Given the description of an element on the screen output the (x, y) to click on. 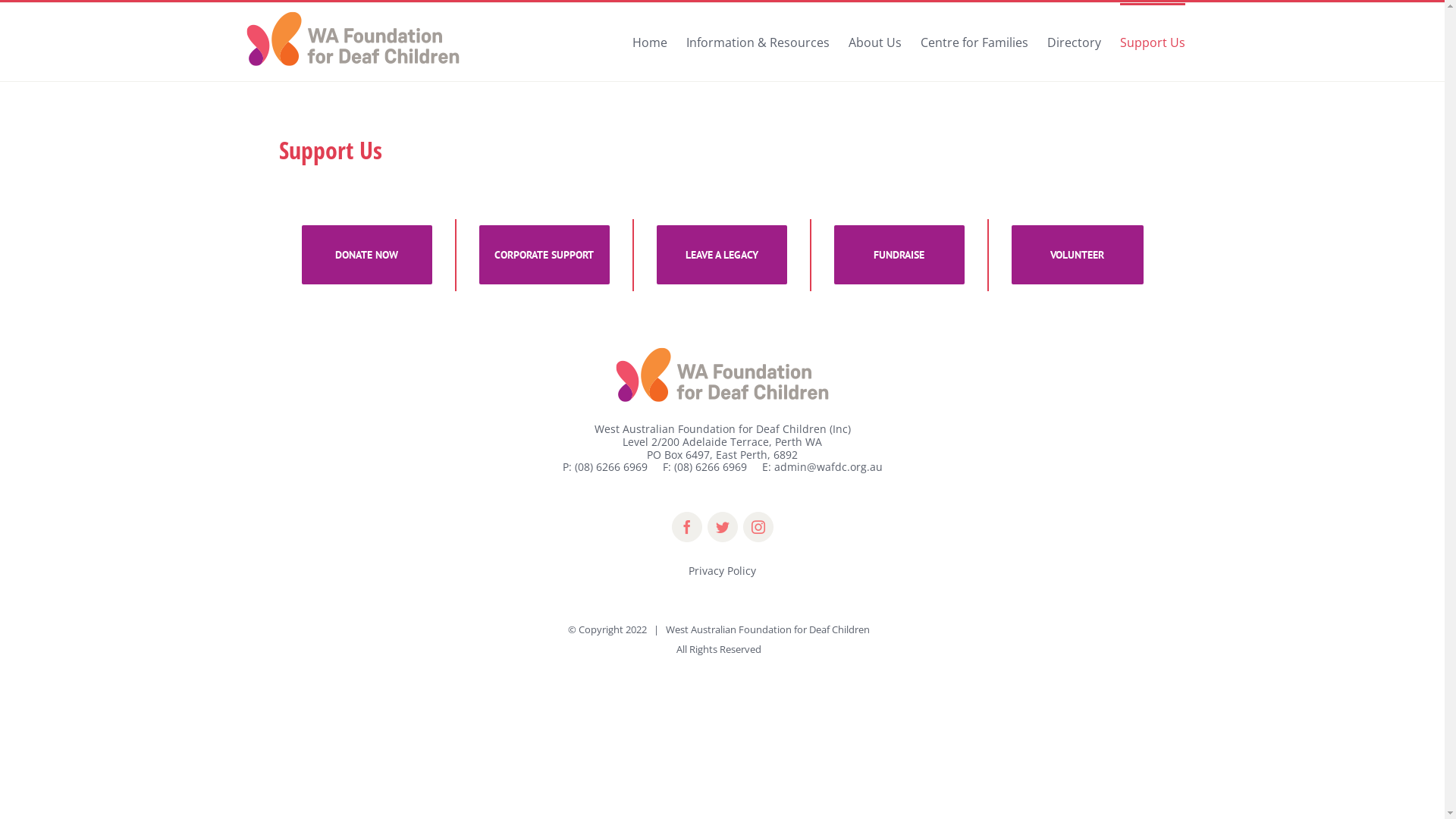
admin@wafdc.org.au Element type: text (827, 466)
About Us Element type: text (873, 40)
VOLUNTEER Element type: text (1077, 254)
Support Us Element type: text (1151, 40)
Information & Resources Element type: text (756, 40)
Centre for Families Element type: text (974, 40)
CORPORATE SUPPORT Element type: text (544, 254)
Directory Element type: text (1073, 40)
LEAVE A LEGACY Element type: text (721, 254)
Home Element type: text (649, 40)
Privacy Policy Element type: text (722, 570)
(08) 6266 6969 Element type: text (709, 466)
FUNDRAISE Element type: text (899, 254)
(08) 6266 6969 Element type: text (610, 466)
DONATE NOW Element type: text (366, 254)
